Given the description of an element on the screen output the (x, y) to click on. 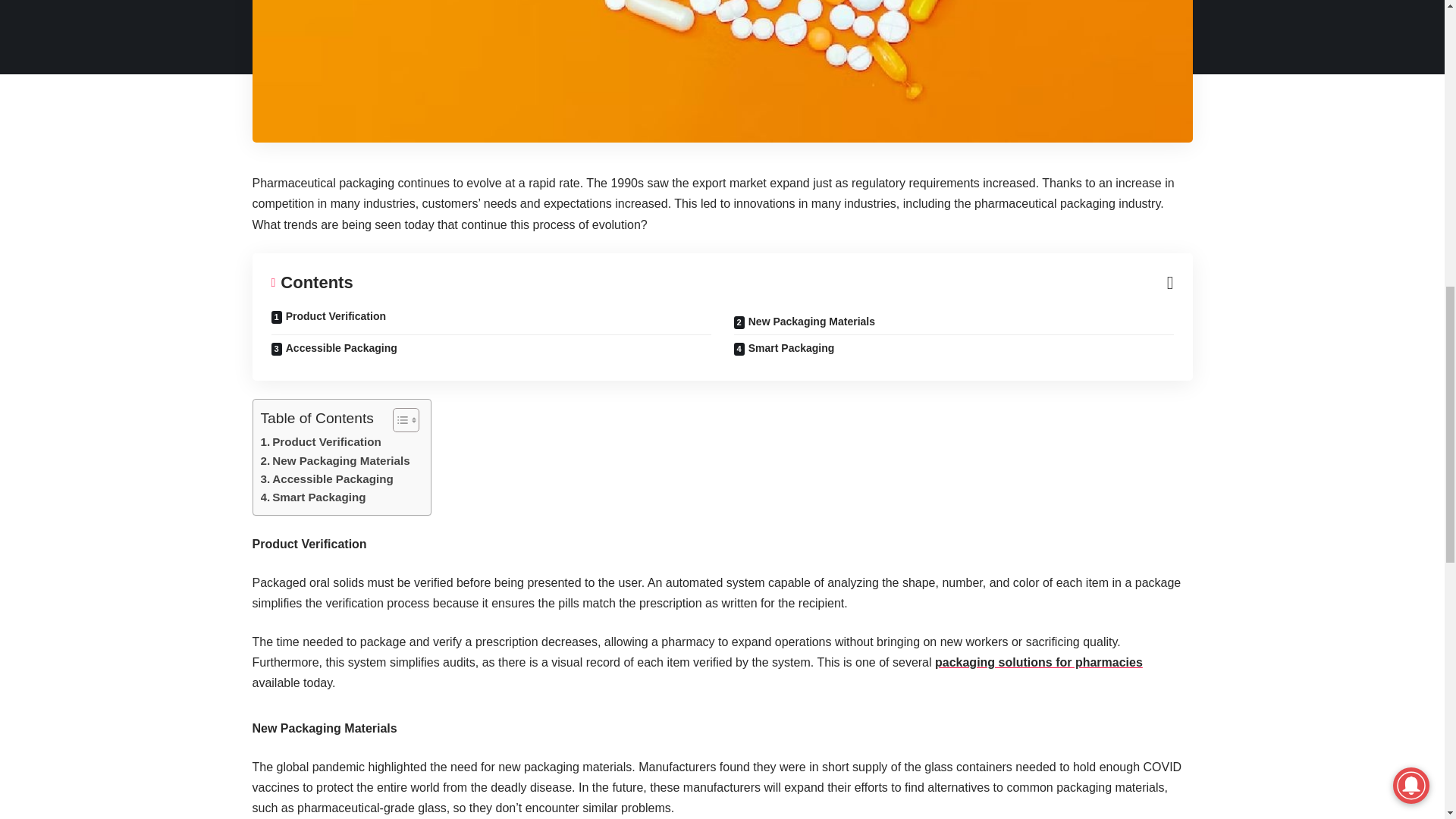
Smart Packaging (313, 497)
Product Verification (320, 442)
Accessible Packaging (326, 479)
New Packaging Materials (335, 461)
